Given the description of an element on the screen output the (x, y) to click on. 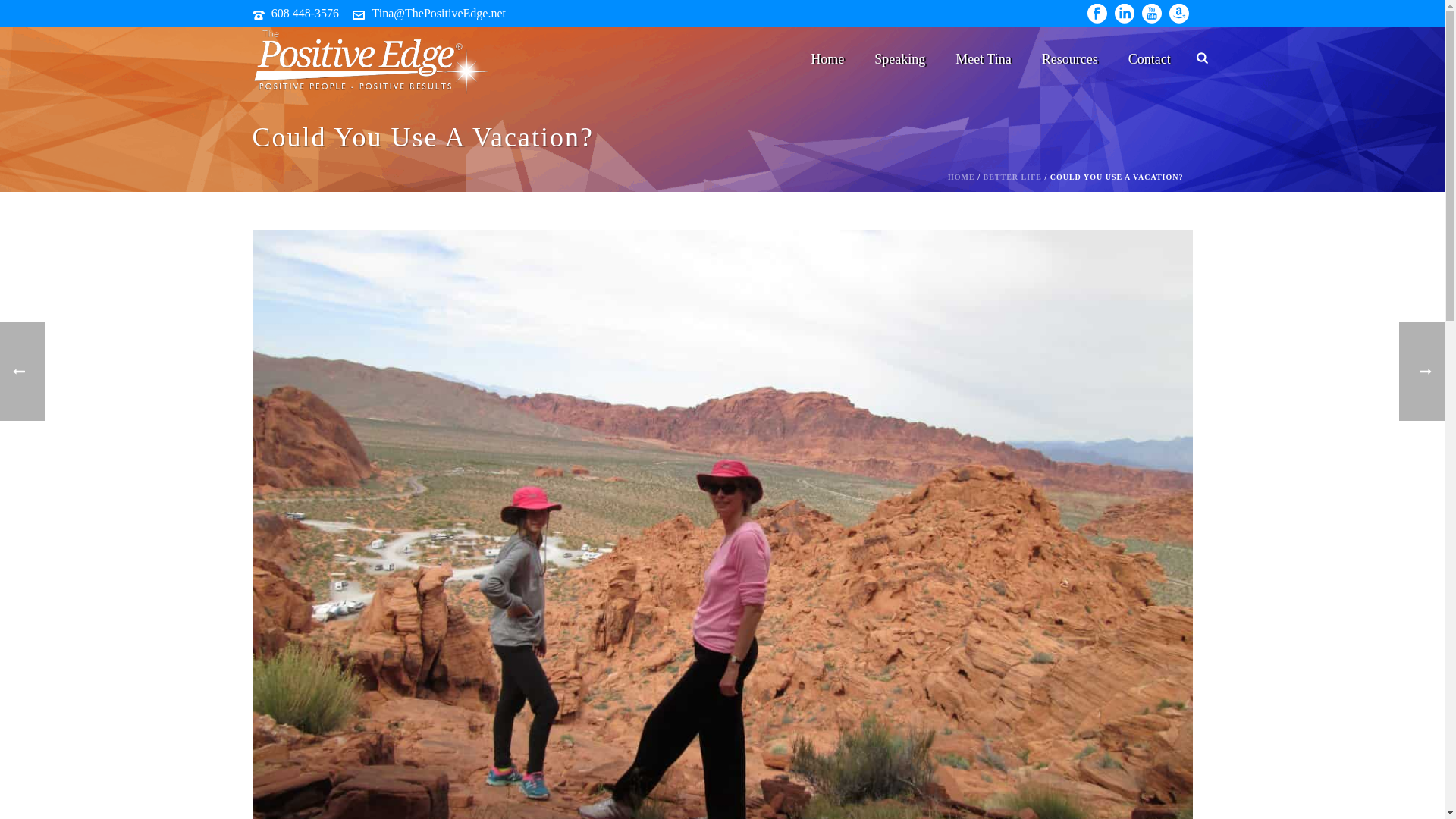
Home (826, 58)
608 448-3576 (304, 12)
Resources (1069, 58)
Contact (1149, 58)
Resources (1069, 58)
Speaking (899, 58)
Meet Tina (983, 58)
Home (826, 58)
Contact (1149, 58)
Speaking (899, 58)
Meet Tina (983, 58)
